Given the description of an element on the screen output the (x, y) to click on. 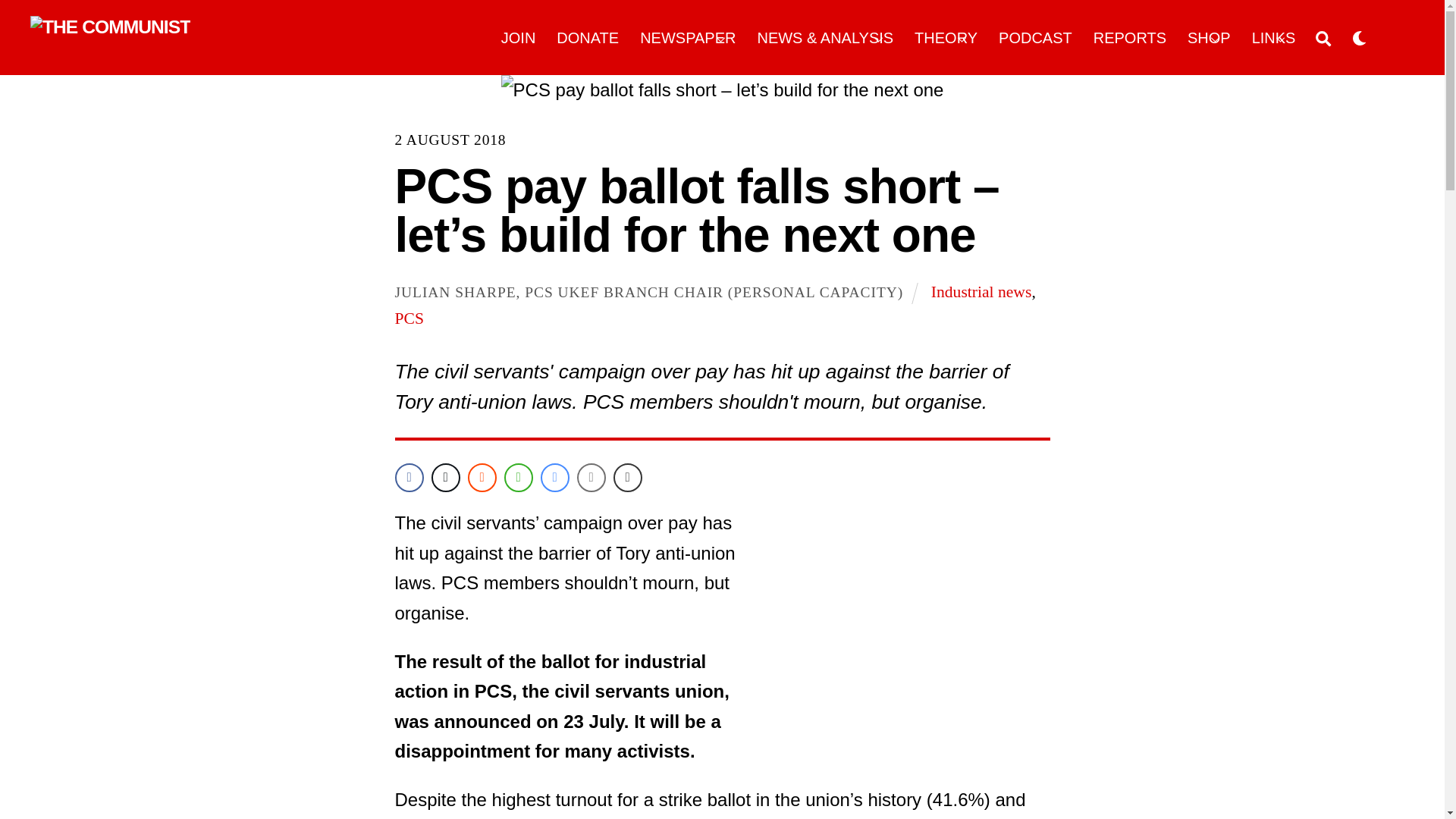
DONATE (587, 37)
NEWSPAPER (688, 37)
The Communist (110, 26)
The Communist (110, 26)
